Given the description of an element on the screen output the (x, y) to click on. 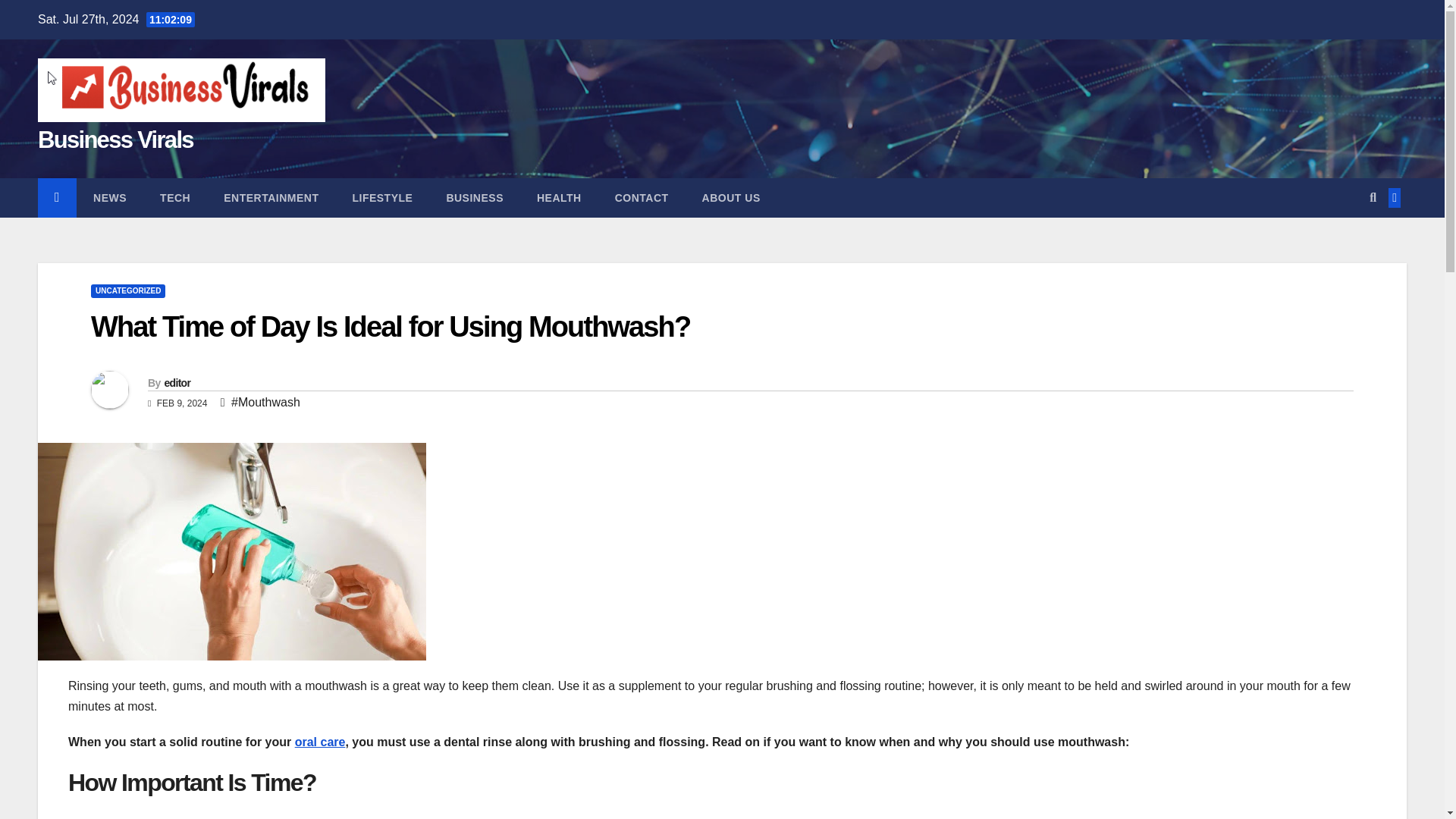
NEWS (109, 197)
Tech (174, 197)
editor (176, 382)
Entertainment (270, 197)
Business (474, 197)
UNCATEGORIZED (127, 291)
Business Virals (115, 139)
News (109, 197)
Permalink to: What Time of Day Is Ideal for Using Mouthwash? (390, 327)
Contact (641, 197)
oral care (320, 741)
LIFESTYLE (381, 197)
TECH (174, 197)
CONTACT (641, 197)
Lifestyle (381, 197)
